Given the description of an element on the screen output the (x, y) to click on. 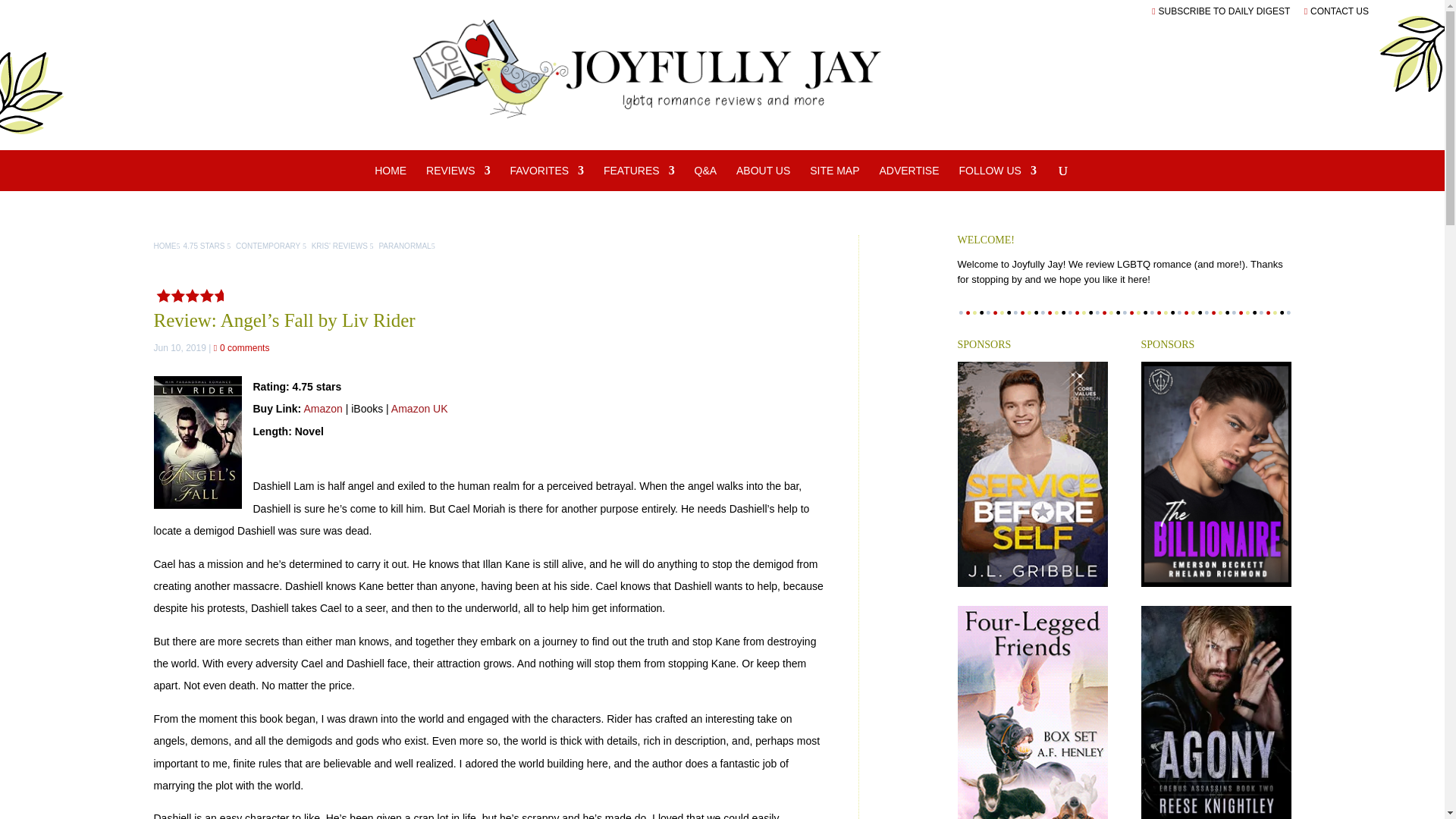
HOME (390, 177)
SUBSCRIBE TO DAILY DIGEST (1220, 10)
CONTACT US (1336, 10)
REVIEWS (458, 177)
